Given the description of an element on the screen output the (x, y) to click on. 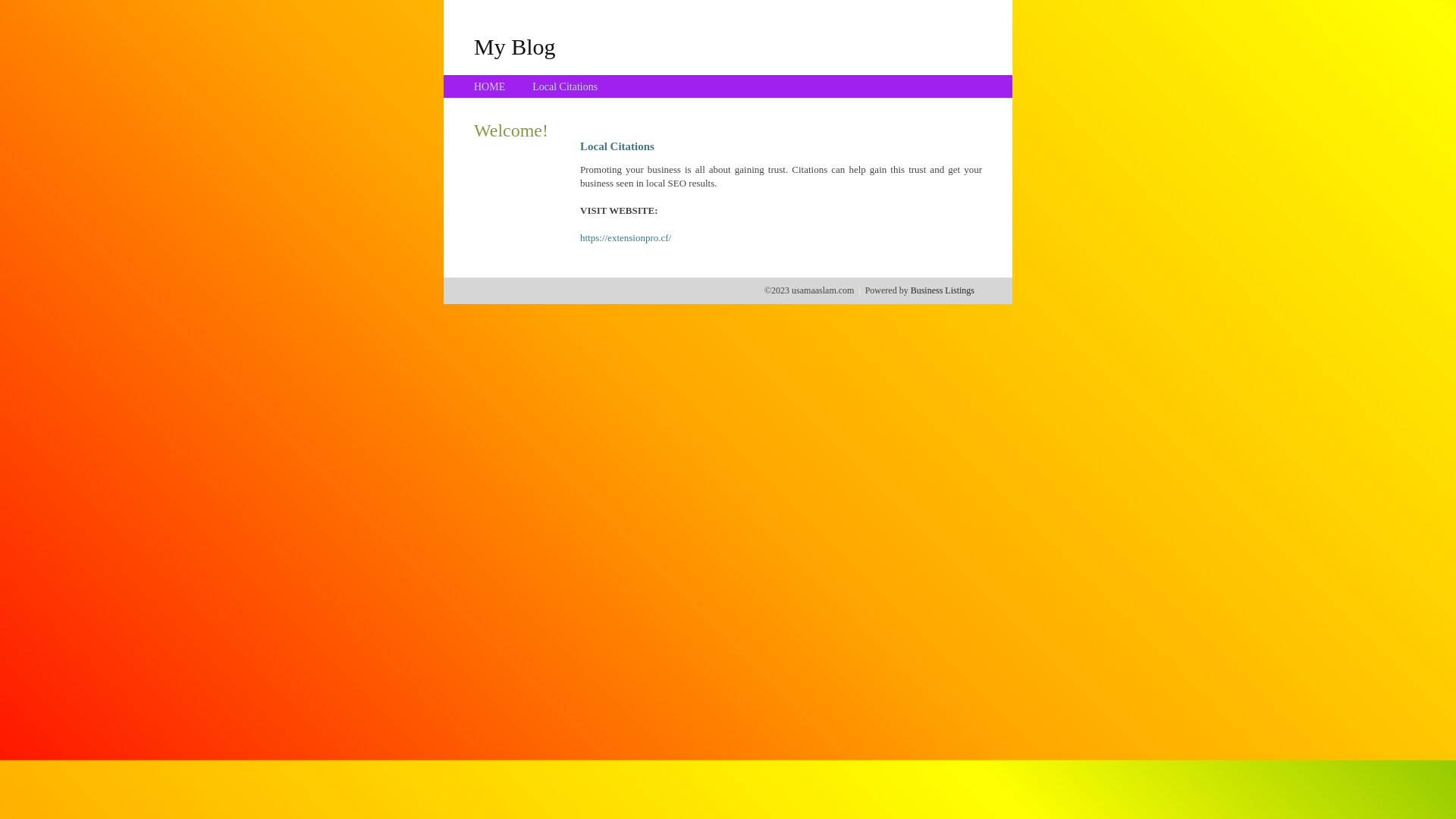
HOME Element type: text (489, 86)
Business Listings Element type: text (942, 290)
My Blog Element type: text (514, 46)
https://extensionpro.cf/ Element type: text (625, 237)
Local Citations Element type: text (564, 86)
